Given the description of an element on the screen output the (x, y) to click on. 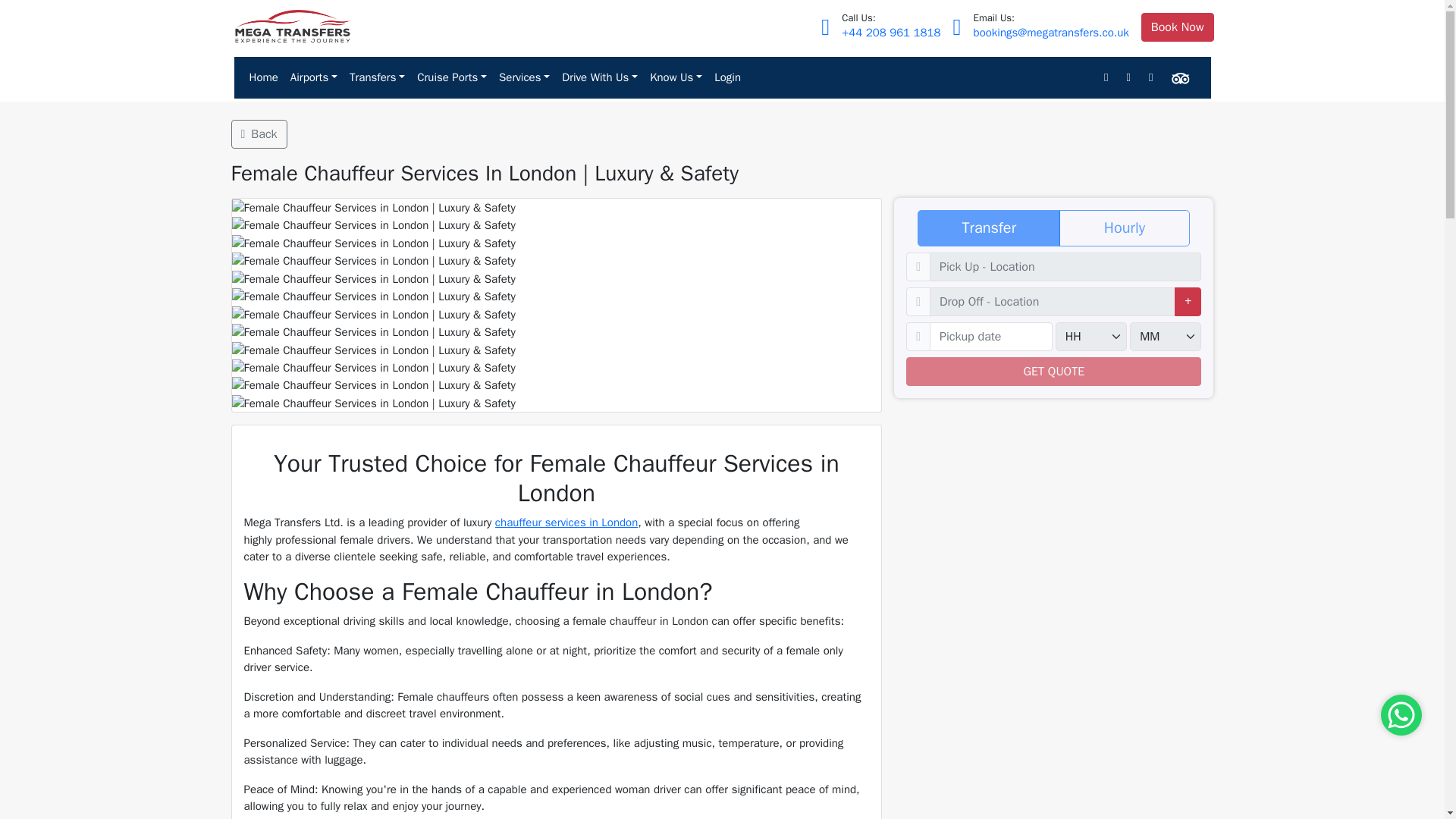
Book Now (1177, 26)
Cruise Ports (451, 77)
GET QUOTE (1053, 371)
Airports (313, 77)
Home (263, 77)
Transfers (376, 77)
Regular (923, 214)
Hourly (923, 214)
Services (524, 77)
